Given the description of an element on the screen output the (x, y) to click on. 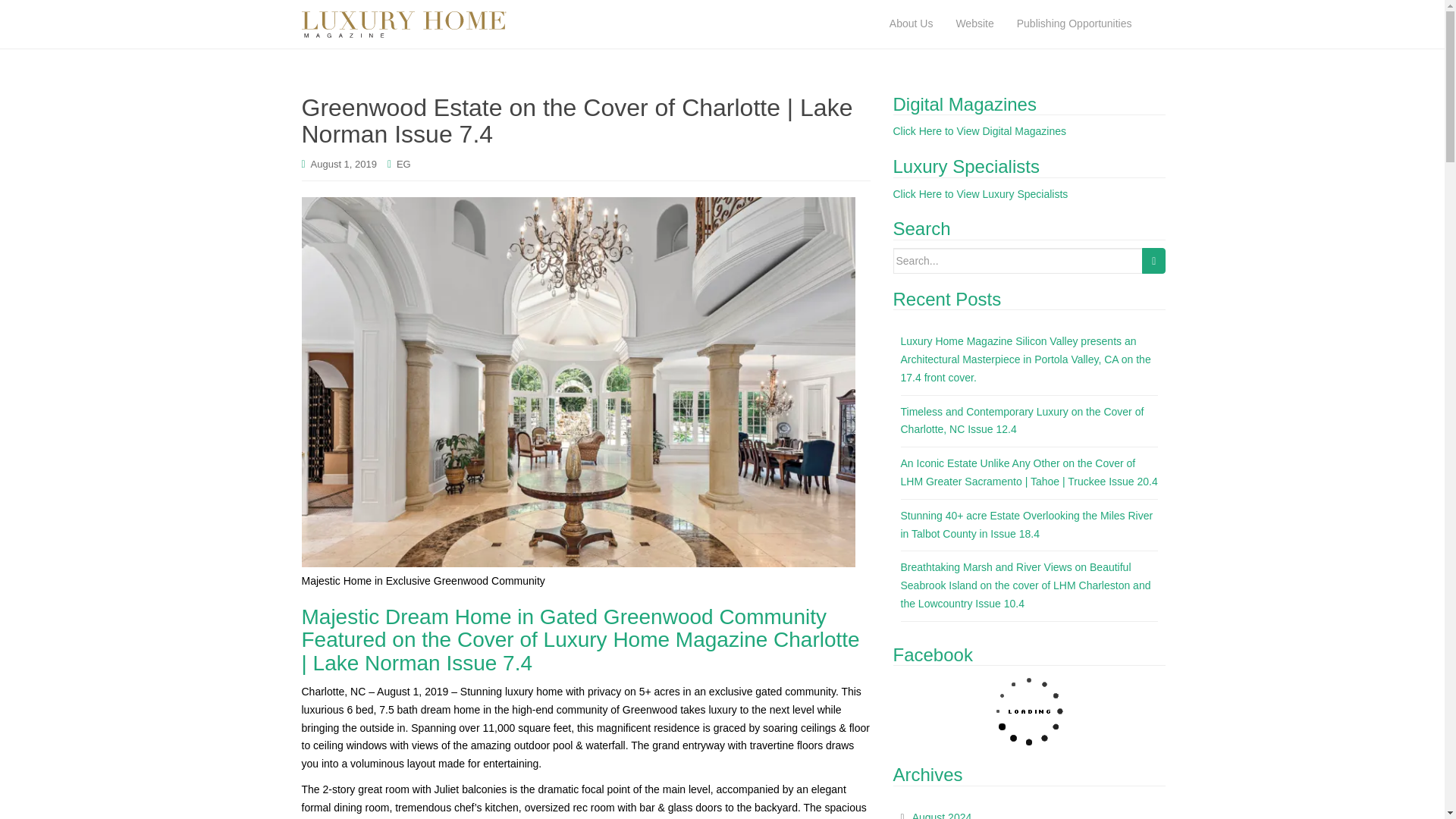
Publishing Opportunities (1074, 24)
Website (973, 24)
Click Here to View Digital Magazines (980, 131)
Publishing Opportunities (1074, 24)
Click Here to View Luxury Specialists (980, 193)
August 1, 2019 (344, 163)
About Us (910, 24)
About Us (910, 24)
Website (973, 24)
EG (403, 163)
Search (1153, 260)
